Given the description of an element on the screen output the (x, y) to click on. 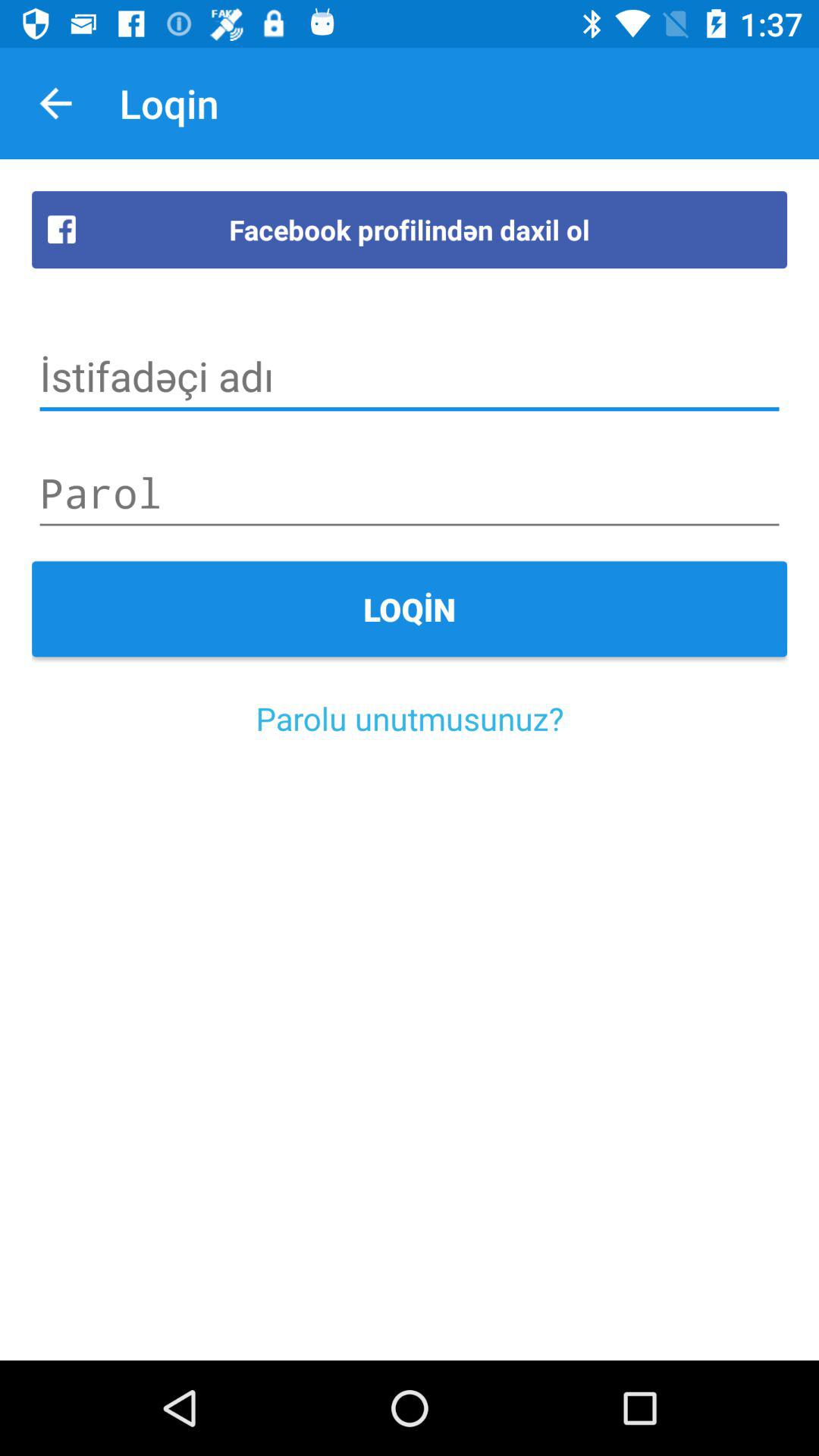
type username (409, 376)
